Given the description of an element on the screen output the (x, y) to click on. 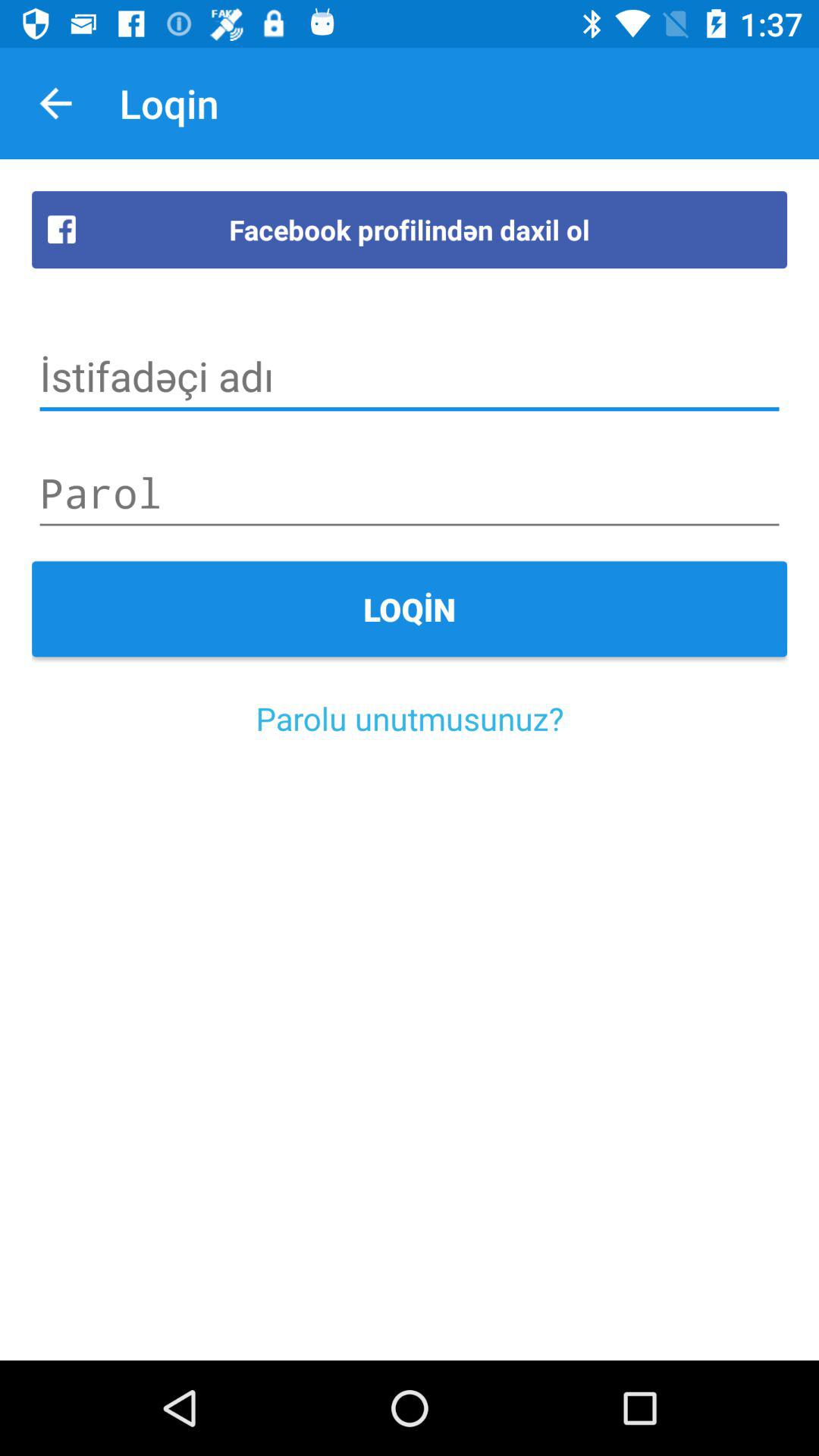
type username (409, 376)
